Given the description of an element on the screen output the (x, y) to click on. 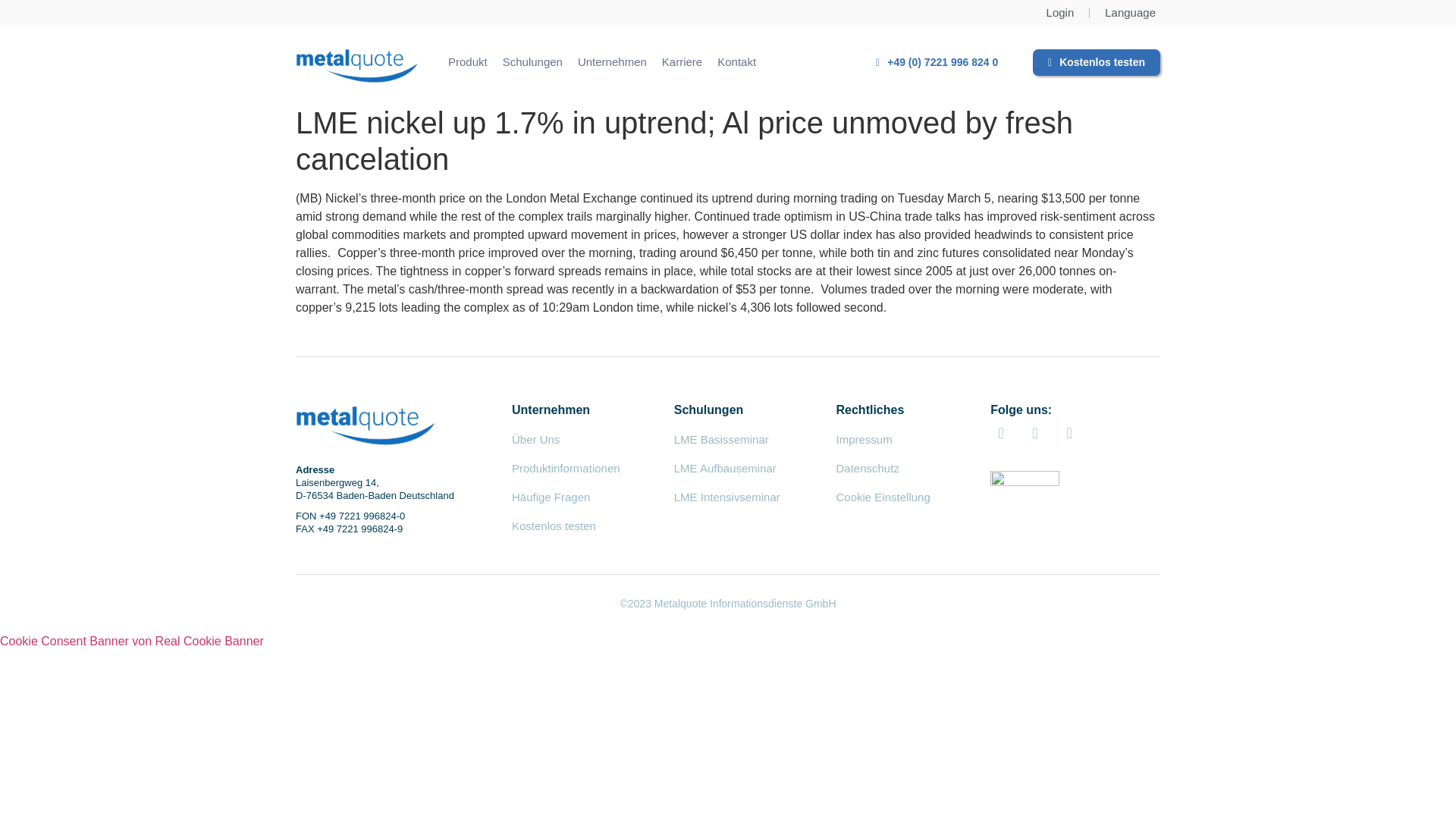
Kontakt (736, 62)
Cookie Einstellung (882, 496)
LME Aufbauseminar (725, 468)
Kostenlos testen (553, 525)
Karriere (681, 62)
Impressum (863, 439)
Schulungen (532, 62)
Datenschutz (866, 468)
LME Intensivseminar (727, 496)
Language (1130, 13)
